Given the description of an element on the screen output the (x, y) to click on. 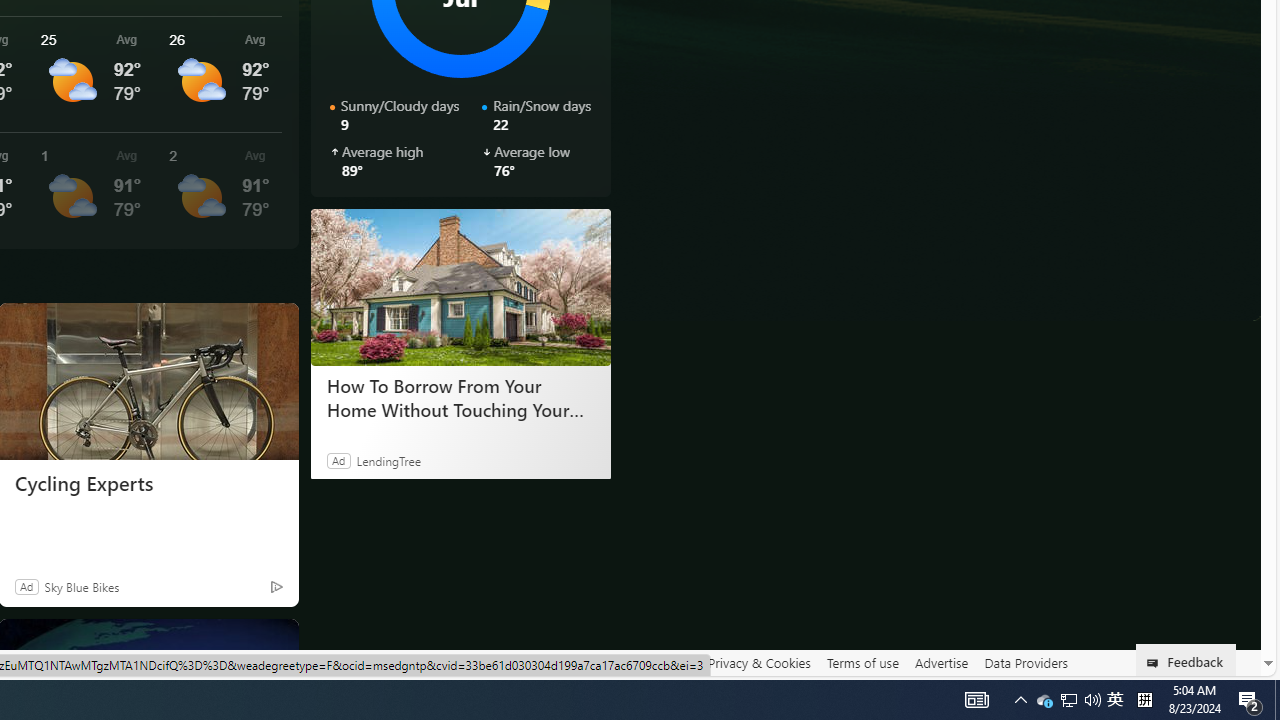
Your Privacy Choices (456, 662)
Privacy & Cookies (759, 662)
